Given the description of an element on the screen output the (x, y) to click on. 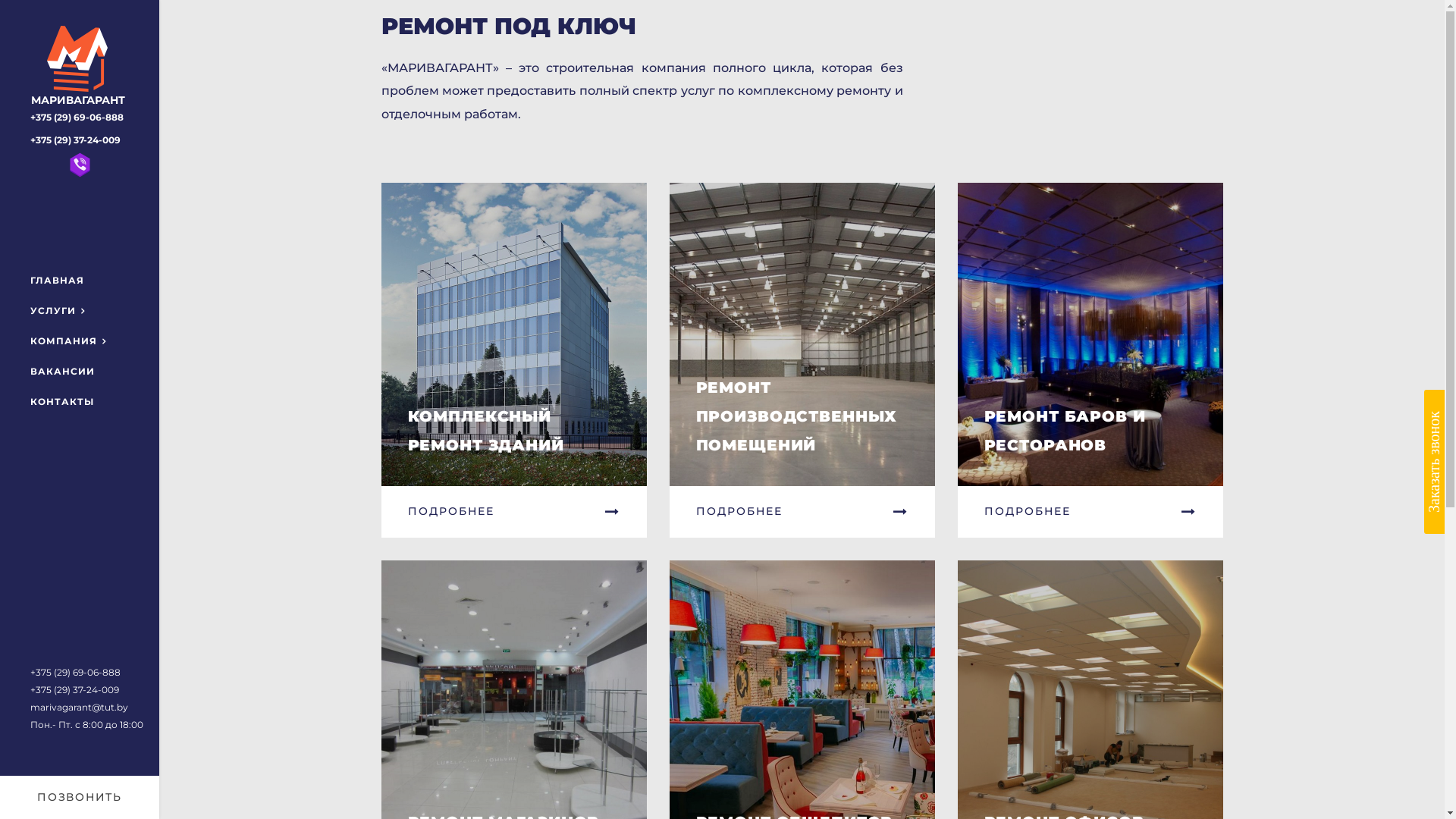
+375 (29) 37-24-009 Element type: text (74, 689)
Viber Element type: hover (79, 164)
+375 (29) 69-06-888 Element type: text (75, 671)
+375 (29) 69-06-888
+375 (29) 37-24-009 Element type: text (76, 128)
marivagarant@tut.by Element type: text (79, 706)
